Given the description of an element on the screen output the (x, y) to click on. 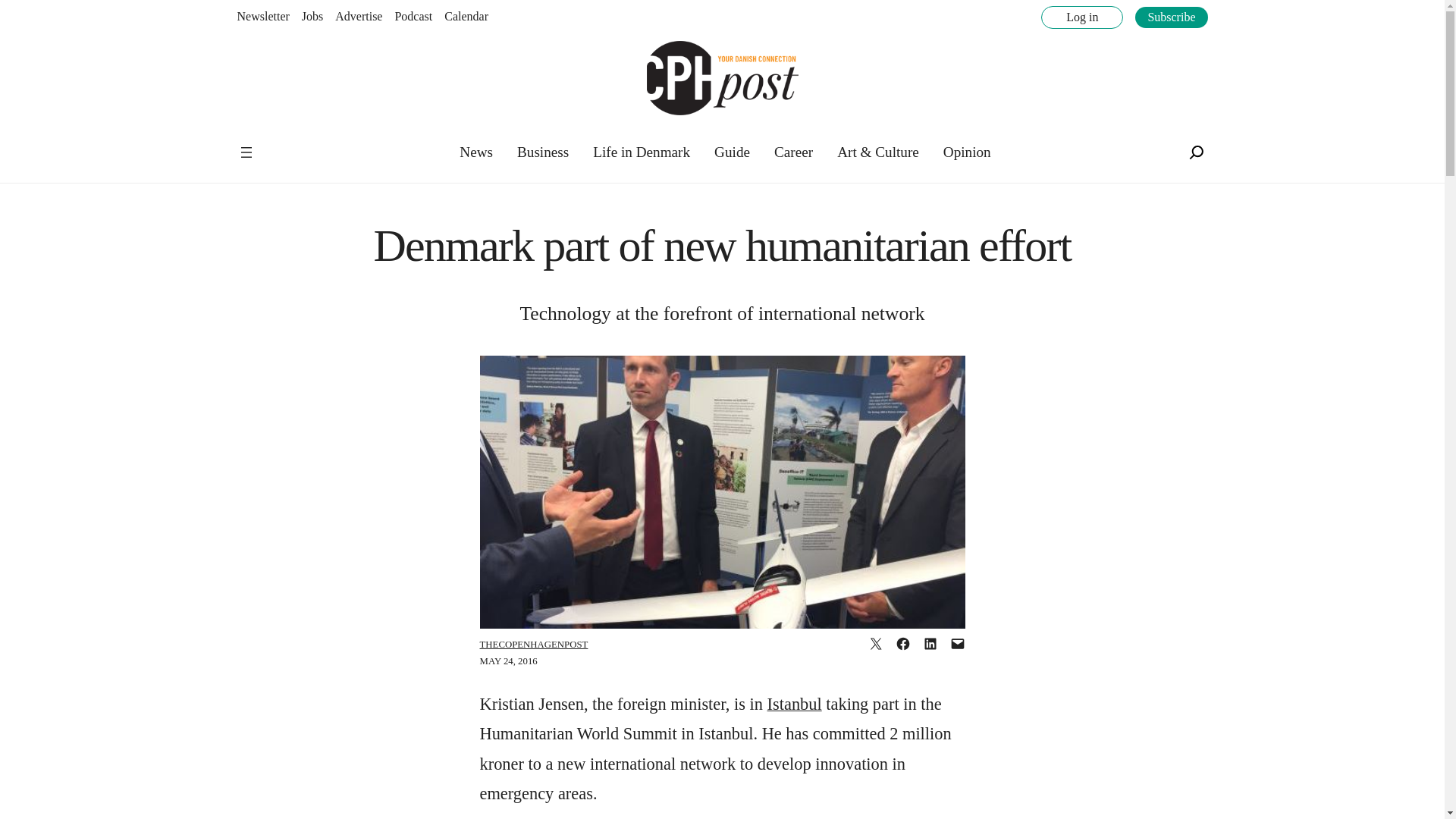
Posts by TheCopenhagenPost (533, 644)
The Copenhagen Post (284, 143)
